Given the description of an element on the screen output the (x, y) to click on. 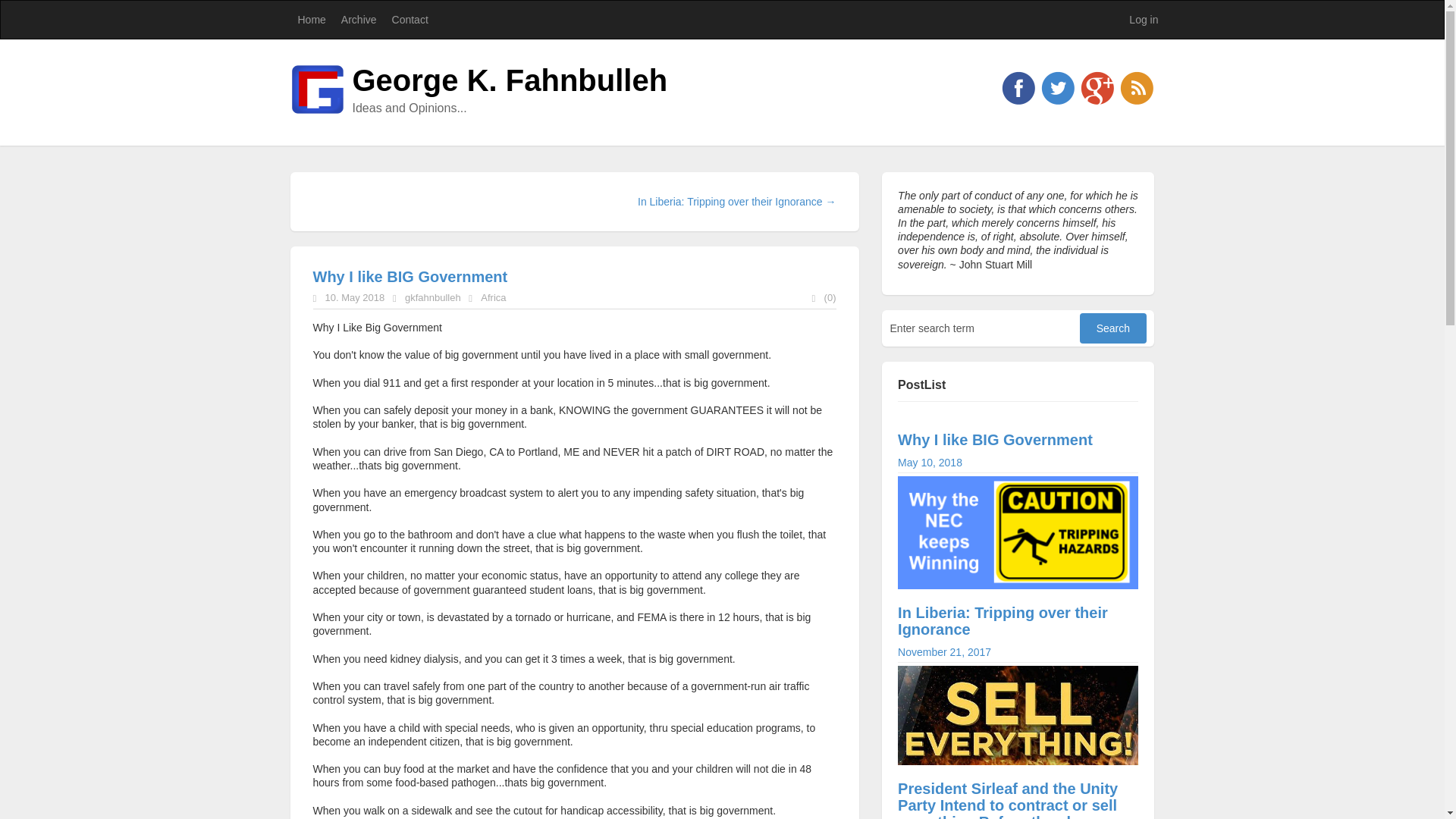
Why I like BIG Government (409, 276)
Home (311, 19)
Archive (358, 19)
Search (1113, 327)
George K. Fahnbulleh (509, 80)
Log in (1018, 449)
Enter search term (1143, 19)
